Given the description of an element on the screen output the (x, y) to click on. 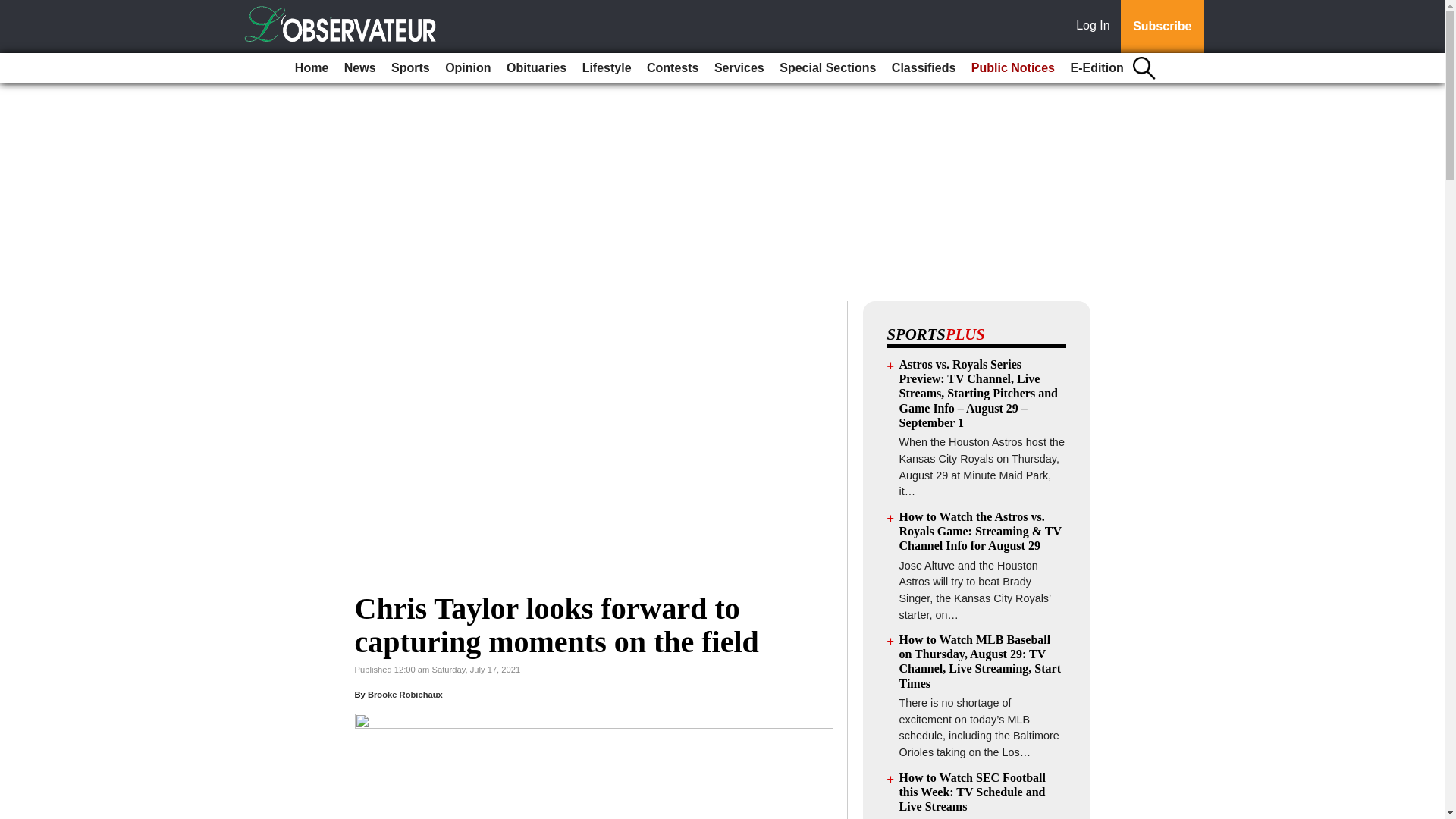
Brooke Robichaux (405, 694)
Contests (672, 68)
Log In (1095, 26)
Subscribe (1162, 26)
E-Edition (1096, 68)
Go (13, 9)
Sports (410, 68)
Public Notices (1013, 68)
